Given the description of an element on the screen output the (x, y) to click on. 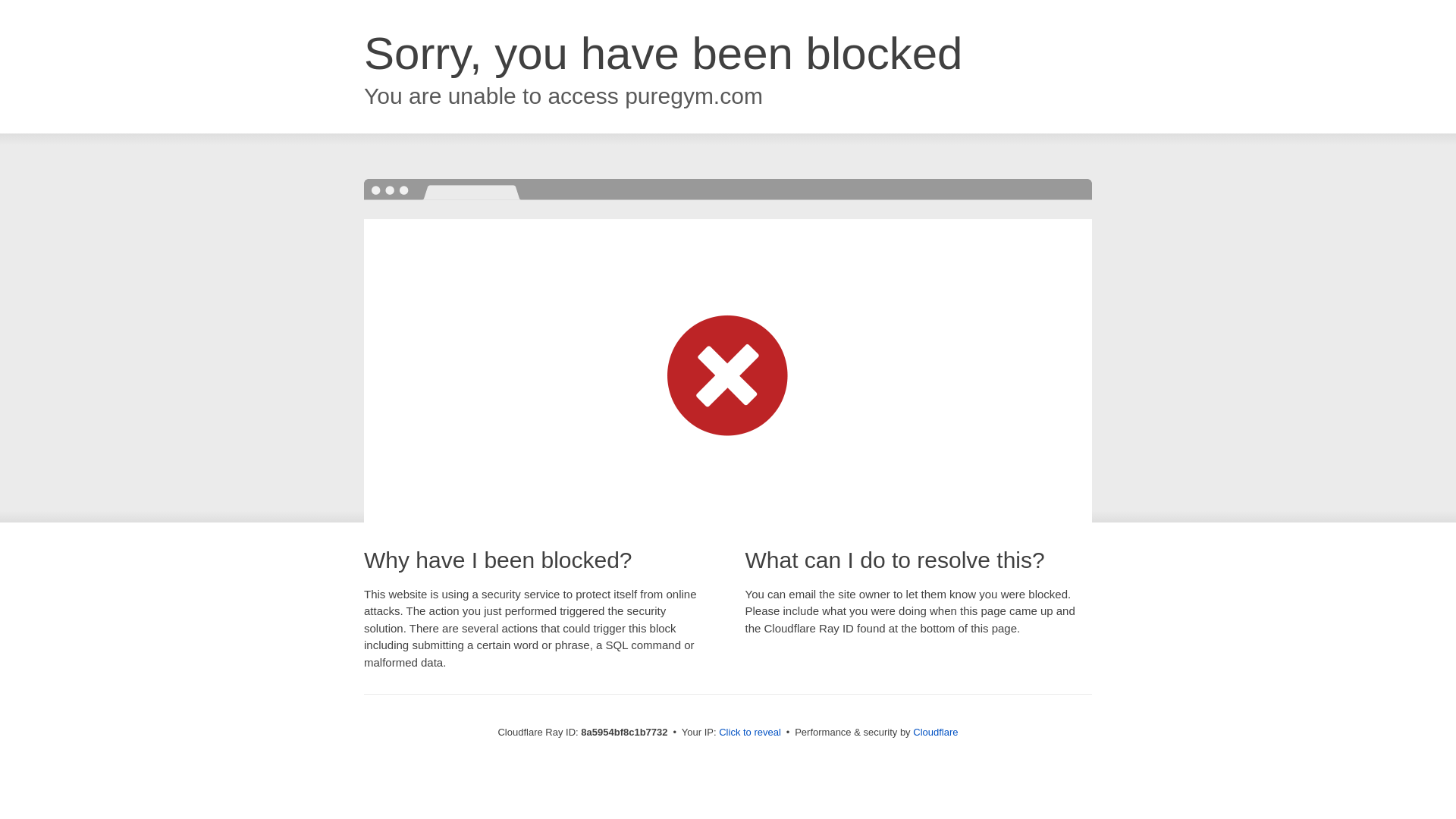
Click to reveal (749, 732)
Cloudflare (935, 731)
